Given the description of an element on the screen output the (x, y) to click on. 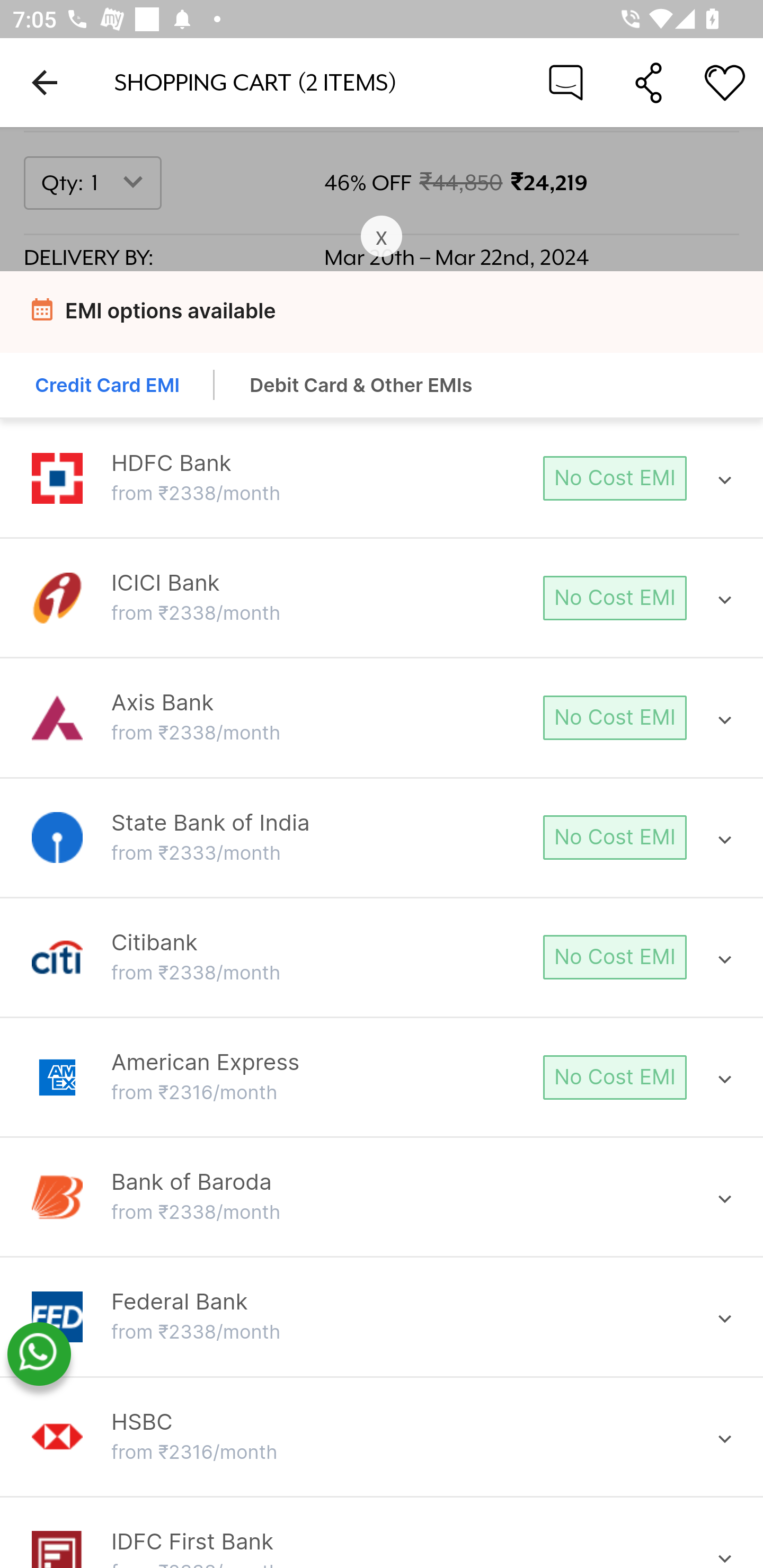
Navigate up (44, 82)
Chat (565, 81)
Share Cart (648, 81)
Wishlist (724, 81)
x (381, 237)
Credit Card EMI (107, 386)
Debit Card & Other EMIs (361, 386)
HDFC Bank HDFC Bank from ₹2338/month No Cost EMI (381, 478)
ICICI Bank ICICI Bank from ₹2338/month No Cost EMI (381, 597)
Axis Bank Axis Bank from ₹2338/month No Cost EMI (381, 717)
Citibank Citibank from ₹2338/month No Cost EMI (381, 956)
Bank of Baroda Bank of Baroda from ₹2338/month (381, 1196)
Federal Bank Federal Bank from ₹2338/month (381, 1316)
whatsapp (38, 1354)
HSBC HSBC from ₹2316/month (381, 1436)
IDFC First Bank IDFC First Bank from ₹2338/month (381, 1548)
